Given the description of an element on the screen output the (x, y) to click on. 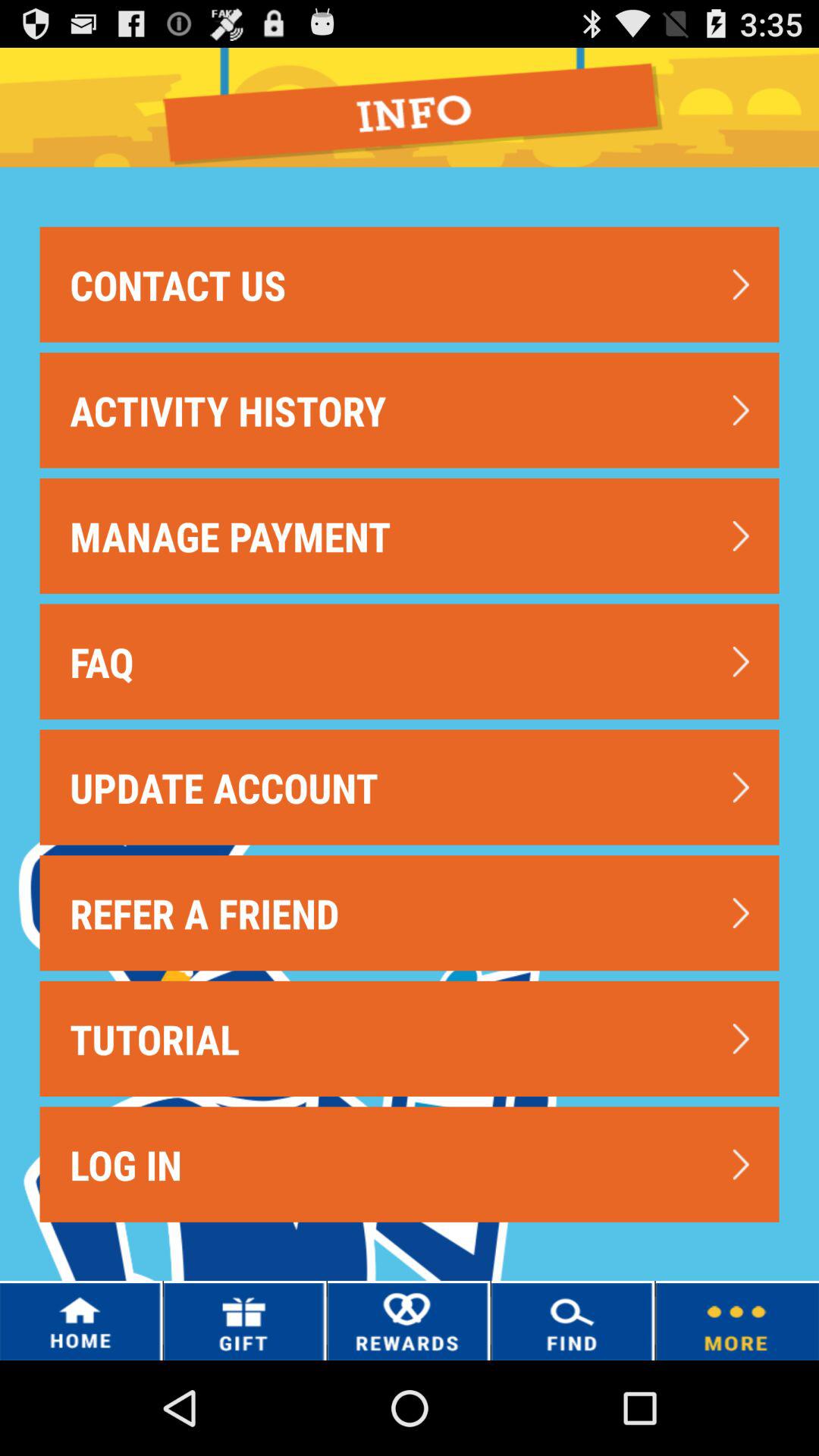
click on the last button in the bottom menu bar (737, 1320)
